Given the description of an element on the screen output the (x, y) to click on. 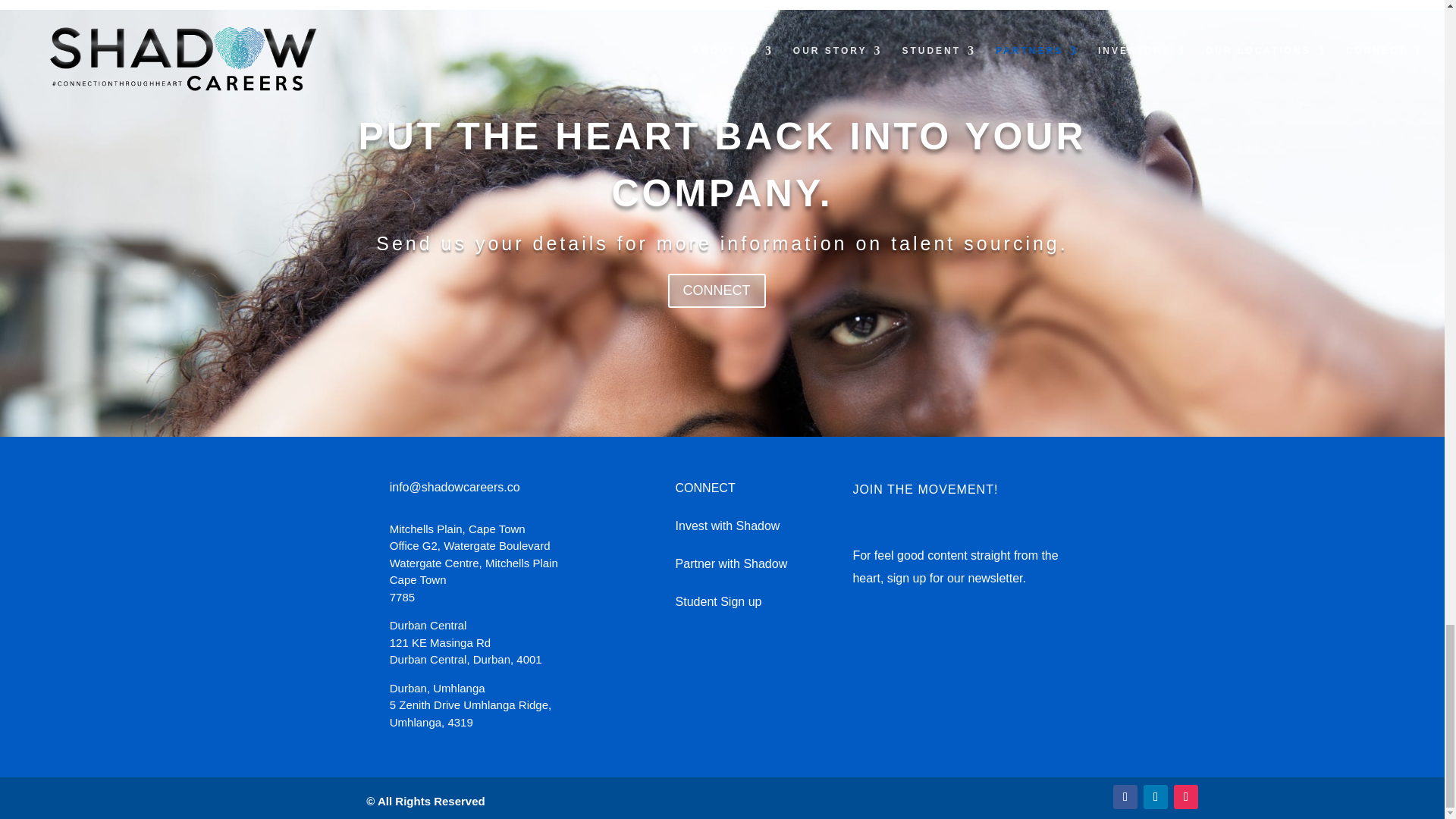
Follow on Instagram (1185, 796)
Follow on Facebook (1125, 796)
Follow on LinkedIn (1154, 796)
